Given the description of an element on the screen output the (x, y) to click on. 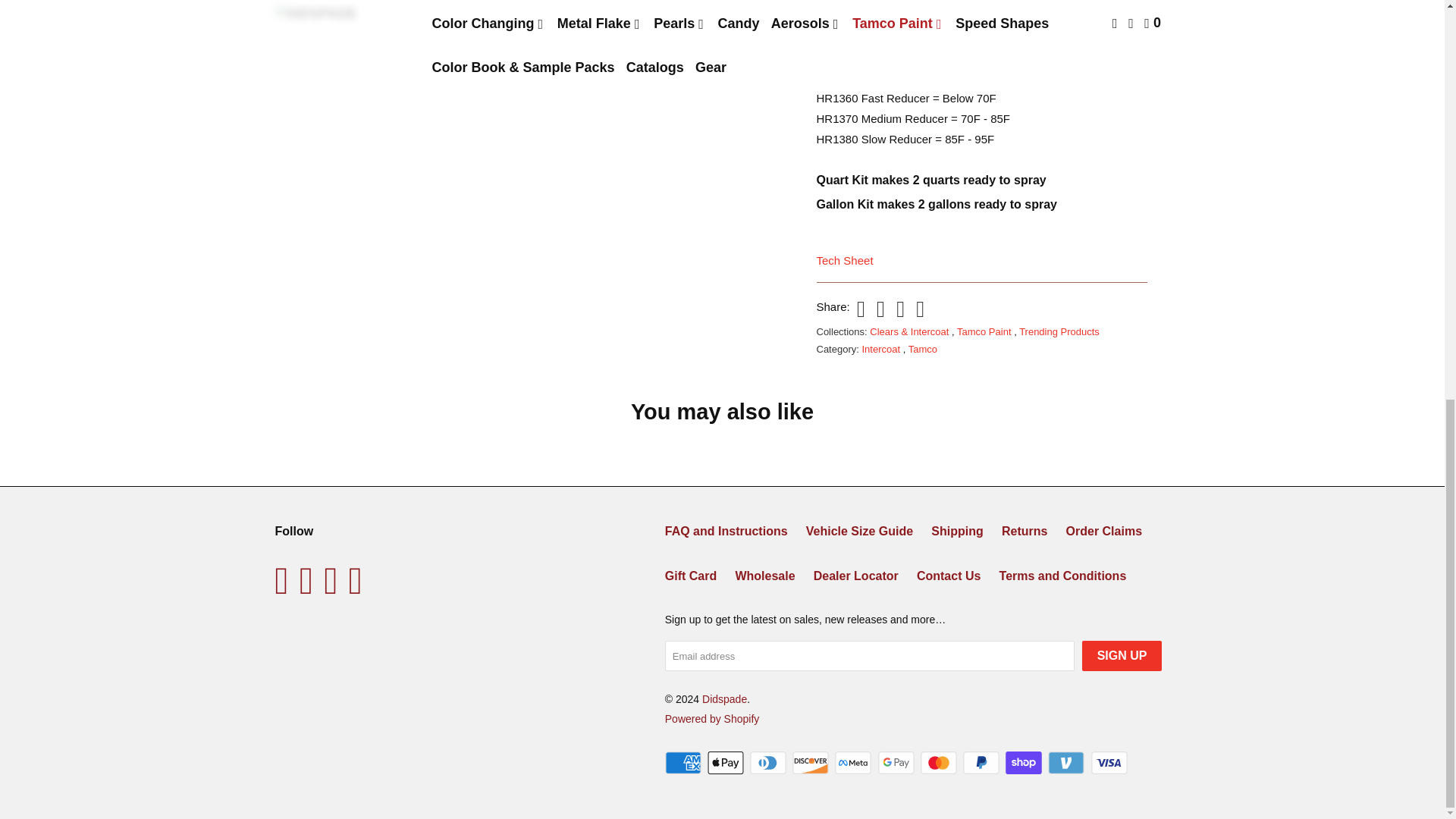
Discover (811, 762)
Sign Up (1121, 655)
Mastercard (939, 762)
Meta Pay (854, 762)
Products tagged Tamco (922, 348)
Trending Products (1059, 331)
Diners Club (769, 762)
PayPal (982, 762)
Google Pay (897, 762)
Shop Pay (1025, 762)
